Given the description of an element on the screen output the (x, y) to click on. 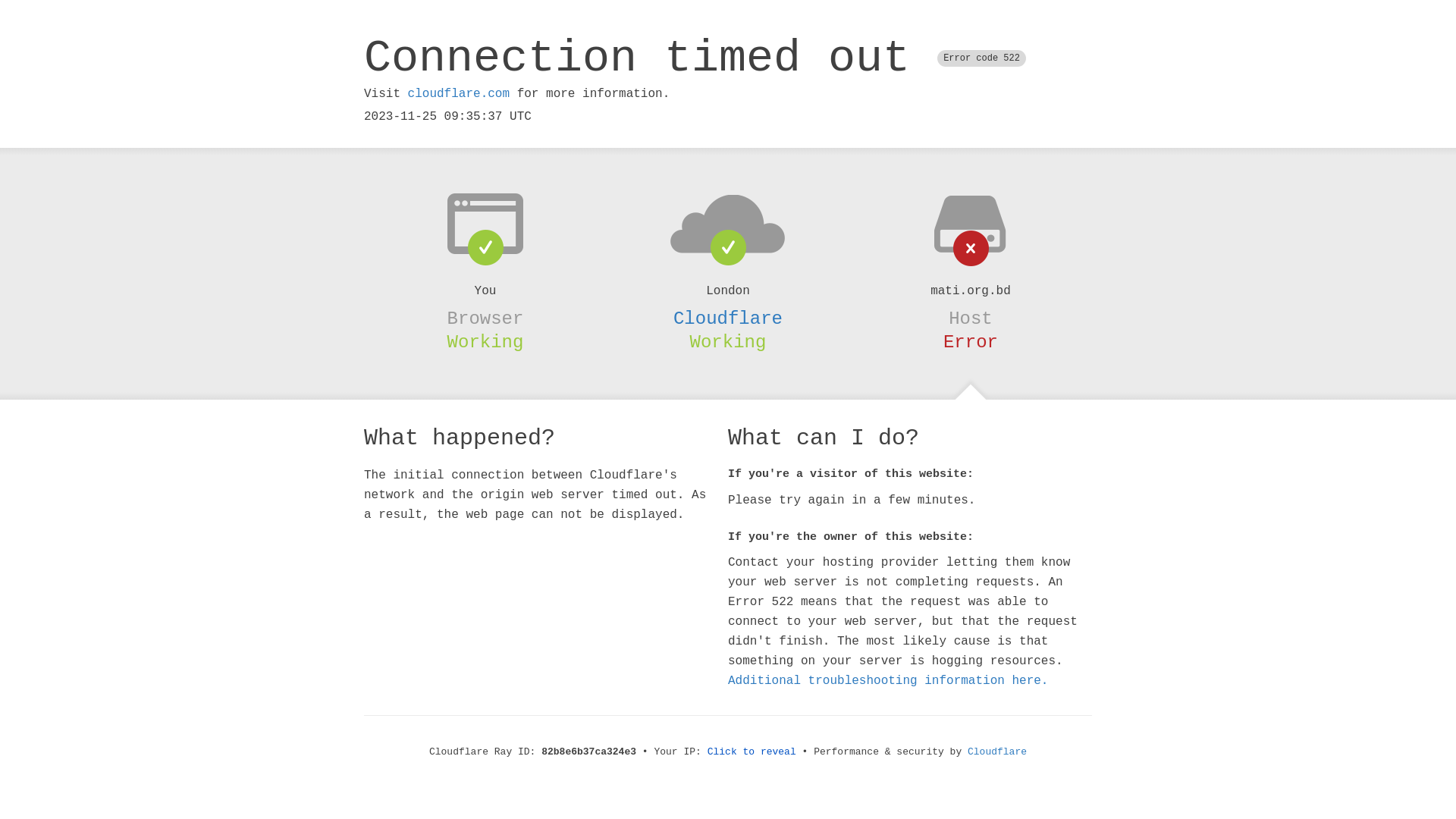
Click to reveal Element type: text (751, 751)
Cloudflare Element type: text (727, 318)
Cloudflare Element type: text (996, 751)
Additional troubleshooting information here. Element type: text (888, 680)
cloudflare.com Element type: text (458, 93)
